Given the description of an element on the screen output the (x, y) to click on. 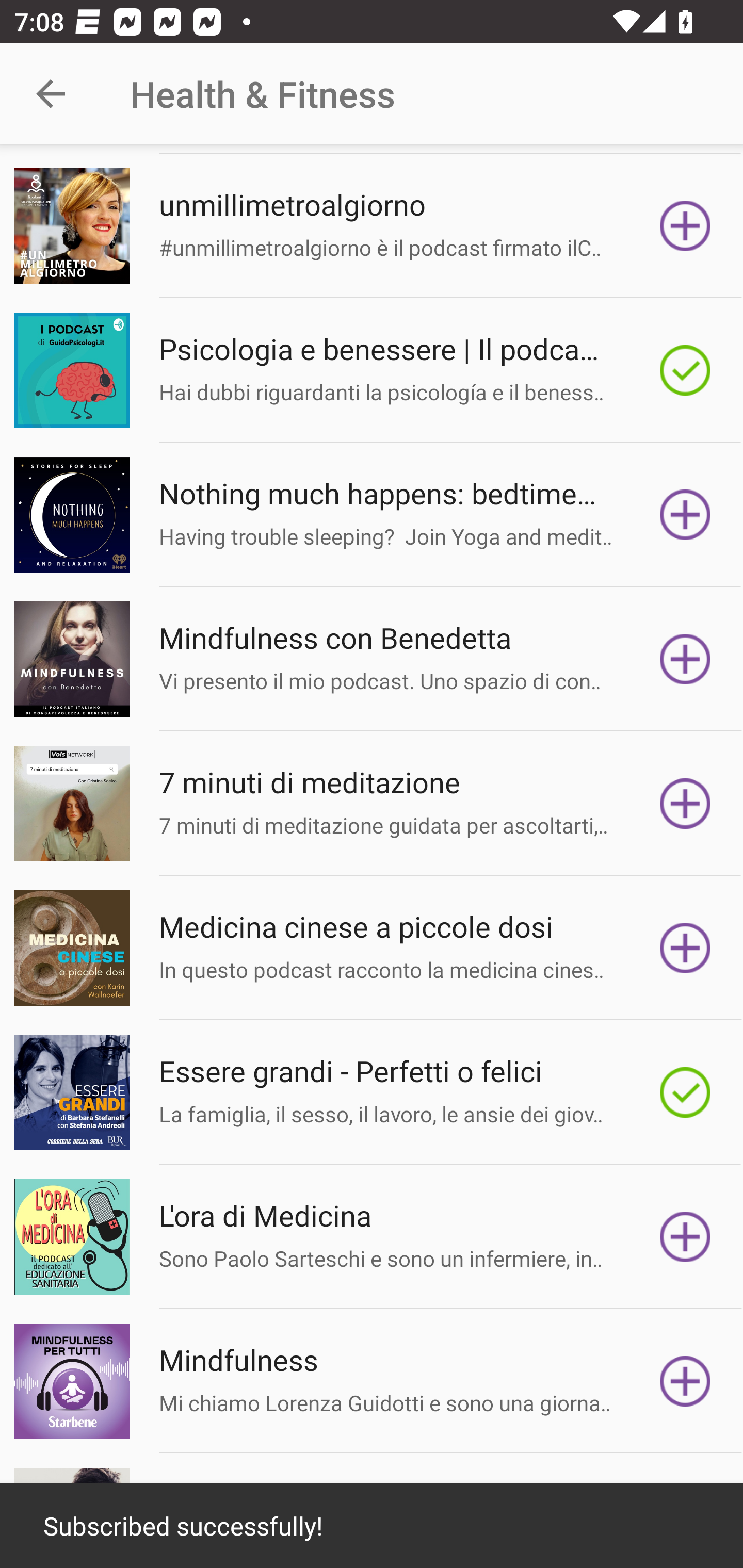
Navigate up (50, 93)
Subscribe (685, 225)
Subscribed (685, 370)
Subscribe (685, 514)
Subscribe (685, 659)
Subscribe (685, 803)
Subscribe (685, 947)
Subscribed (685, 1092)
Subscribe (685, 1237)
Subscribe (685, 1381)
Subscribed successfully! (371, 1525)
